Given the description of an element on the screen output the (x, y) to click on. 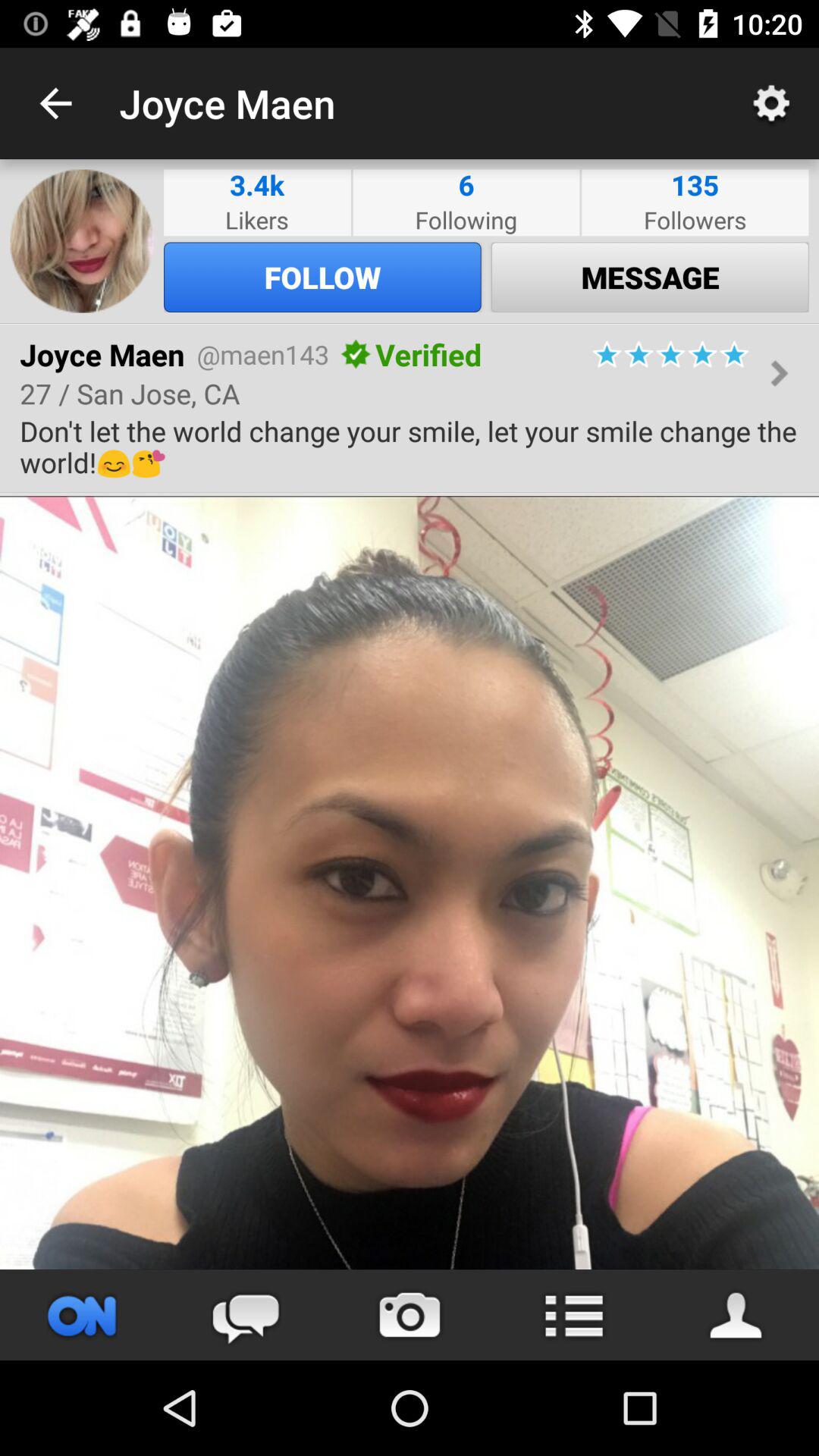
tap the icon above the don t let (670, 354)
